Given the description of an element on the screen output the (x, y) to click on. 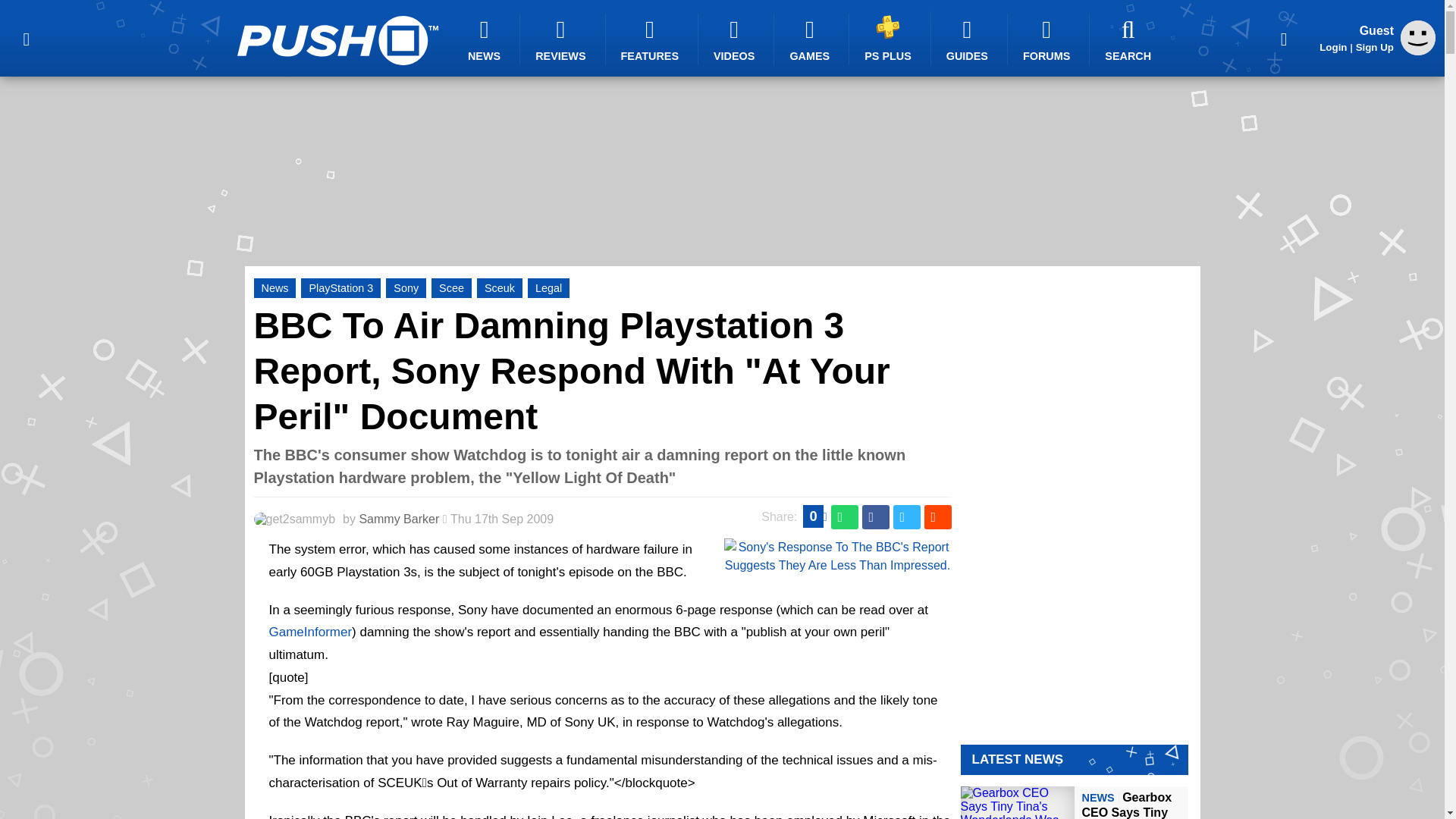
GAMES (811, 39)
Scee (450, 288)
Sony (405, 288)
FORUMS (1048, 39)
Guest (1417, 51)
Push Square (336, 40)
Guest (1417, 37)
GUIDES (969, 39)
Sceuk (499, 288)
Sign Up (1374, 47)
Push Square (336, 40)
Share this on Reddit (936, 517)
Share This Page (1283, 37)
